Given the description of an element on the screen output the (x, y) to click on. 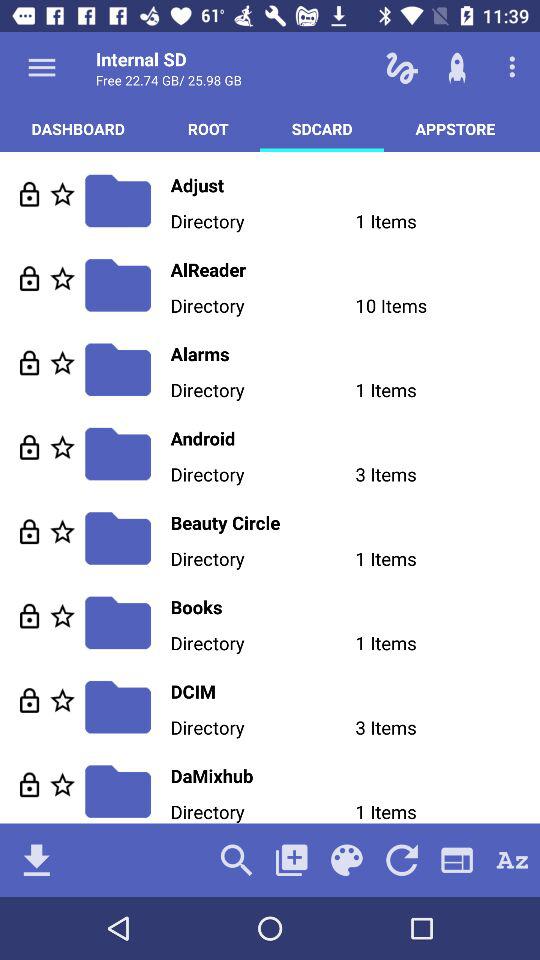
add this to the starred list (62, 362)
